Given the description of an element on the screen output the (x, y) to click on. 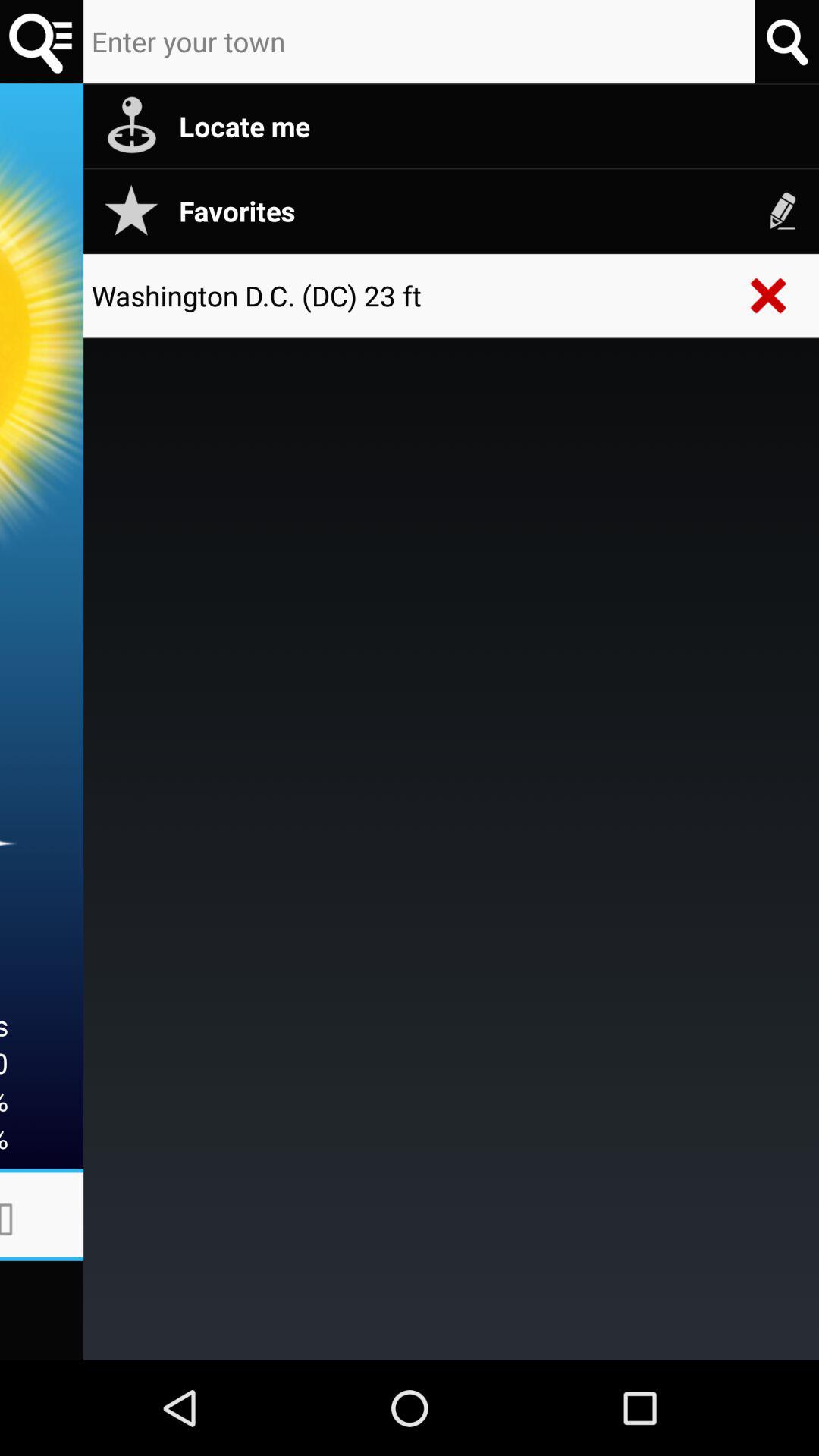
press the item below favorites app (768, 295)
